Given the description of an element on the screen output the (x, y) to click on. 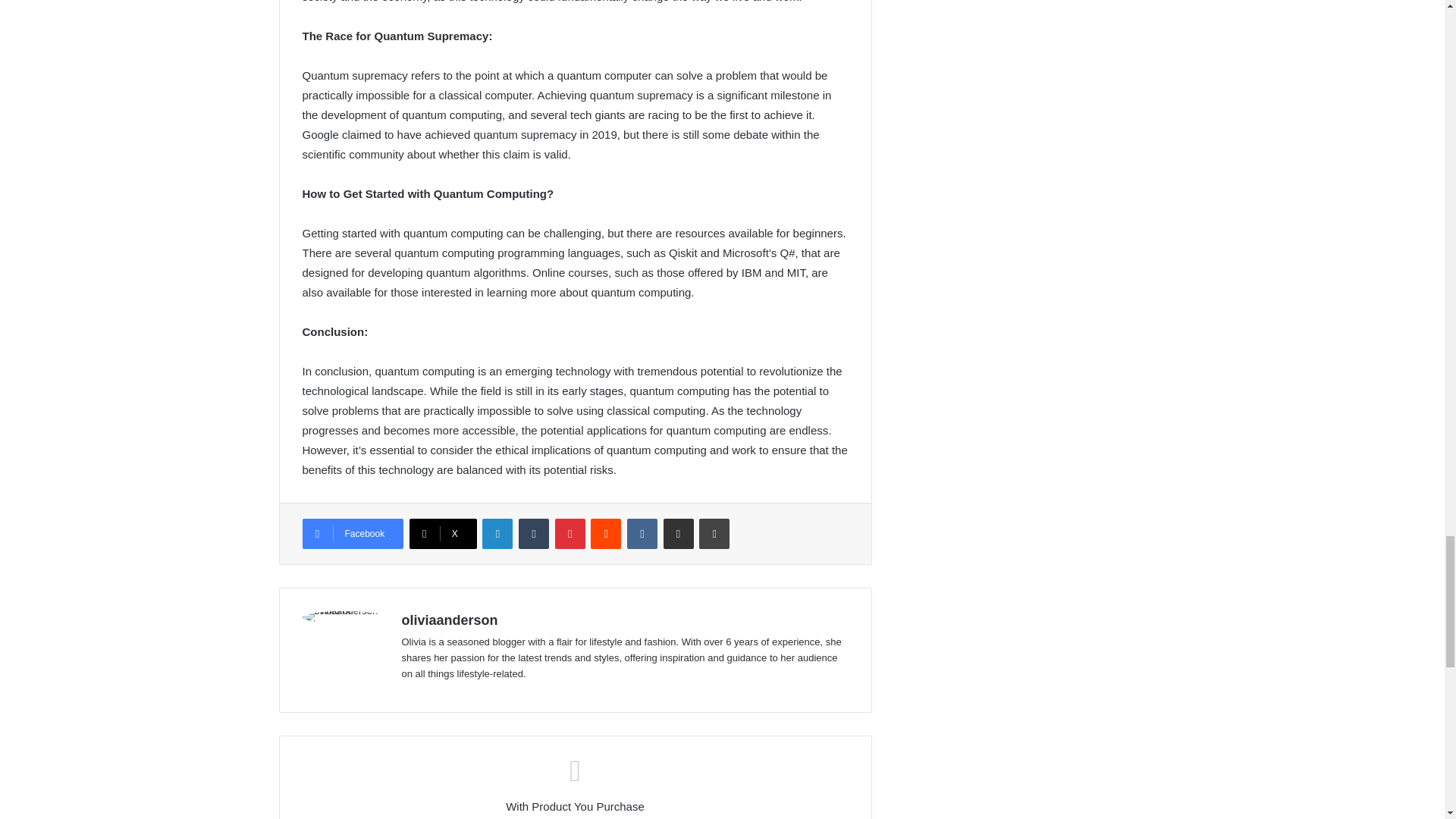
Print (713, 533)
Reddit (606, 533)
X (443, 533)
Pinterest (569, 533)
Facebook (352, 533)
VKontakte (642, 533)
LinkedIn (496, 533)
Tumblr (533, 533)
Share via Email (678, 533)
